Given the description of an element on the screen output the (x, y) to click on. 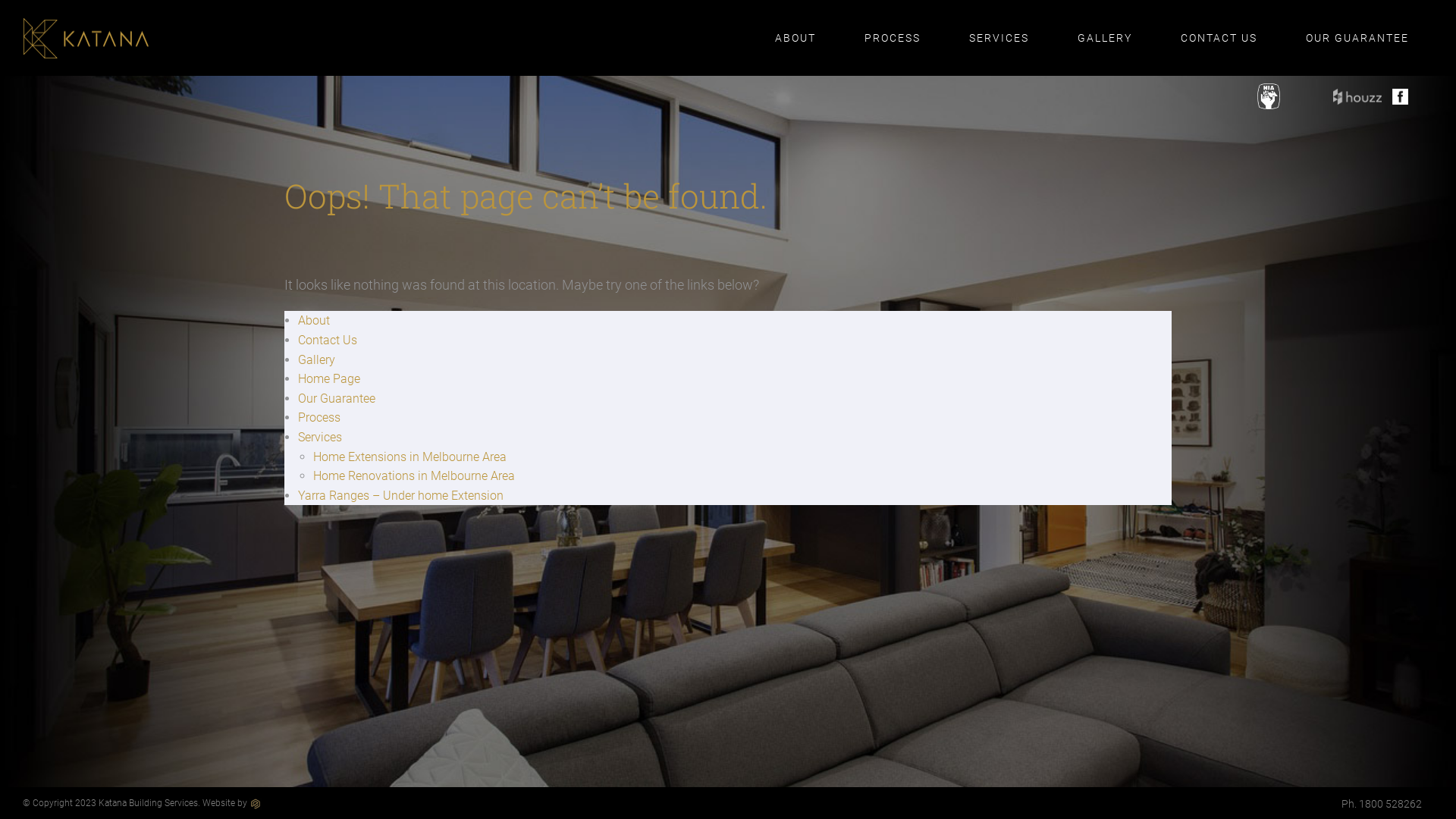
About Element type: text (313, 320)
Services Element type: text (320, 436)
OUR GUARANTEE Element type: text (1357, 37)
Our Guarantee Element type: text (336, 398)
Ph. 1800 528262 Element type: text (1381, 804)
Home Page Element type: text (329, 378)
GALLERY Element type: text (1104, 37)
Home Extensions in Melbourne Area Element type: text (409, 456)
CONTACT US Element type: text (1218, 37)
Process Element type: text (319, 417)
Gallery Element type: text (316, 359)
Home Renovations in Melbourne Area Element type: text (413, 475)
PROCESS Element type: text (892, 37)
SERVICES Element type: text (998, 37)
ABOUT Element type: text (795, 37)
Contact Us Element type: text (327, 339)
Katana Element type: text (85, 37)
